Given the description of an element on the screen output the (x, y) to click on. 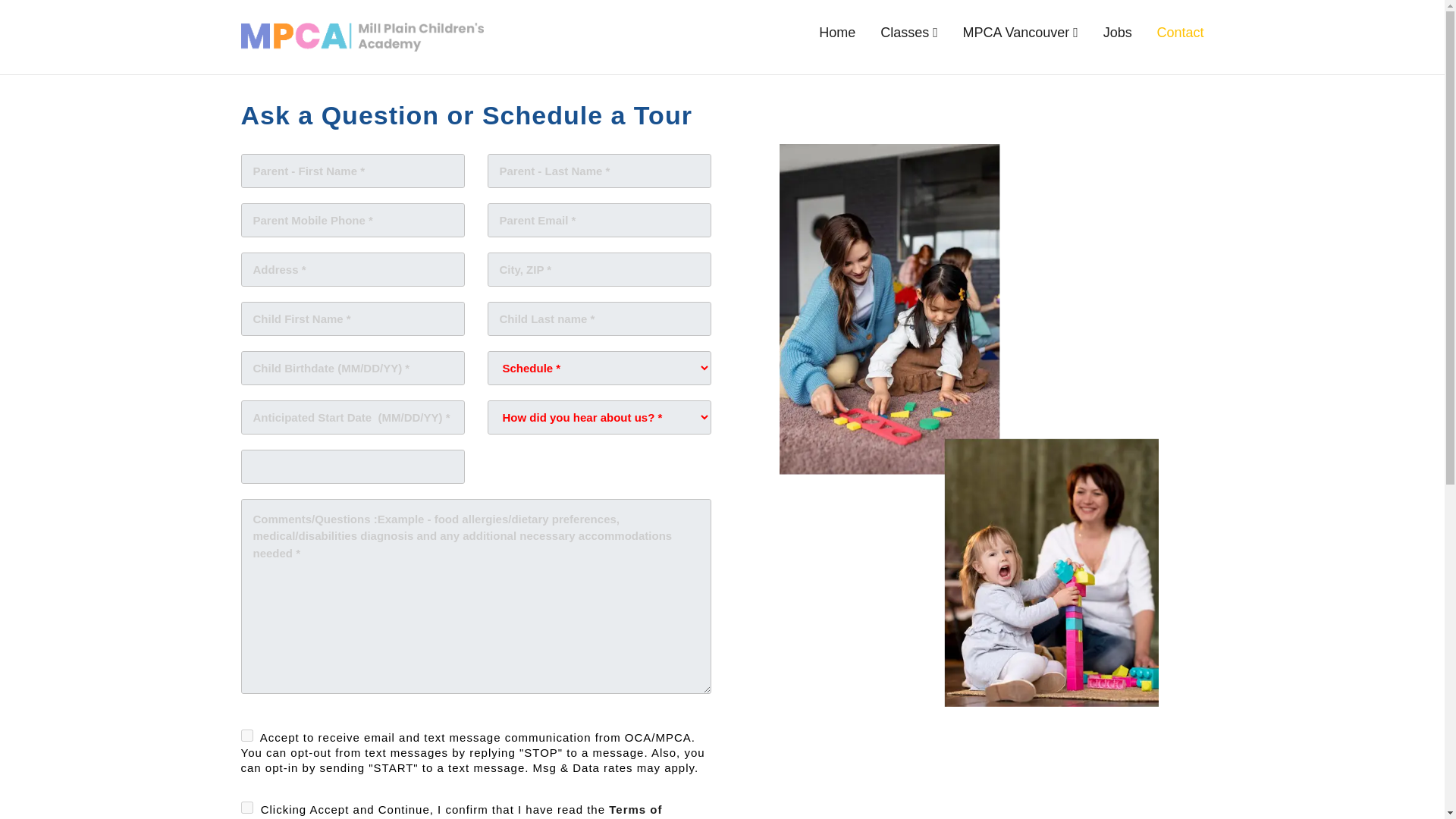
MPCA Vancouver (1020, 32)
Terms of Service (451, 811)
Home (837, 32)
Classes (908, 32)
1 (247, 807)
1 (247, 735)
Contact (1180, 32)
Jobs (1117, 32)
